Given the description of an element on the screen output the (x, y) to click on. 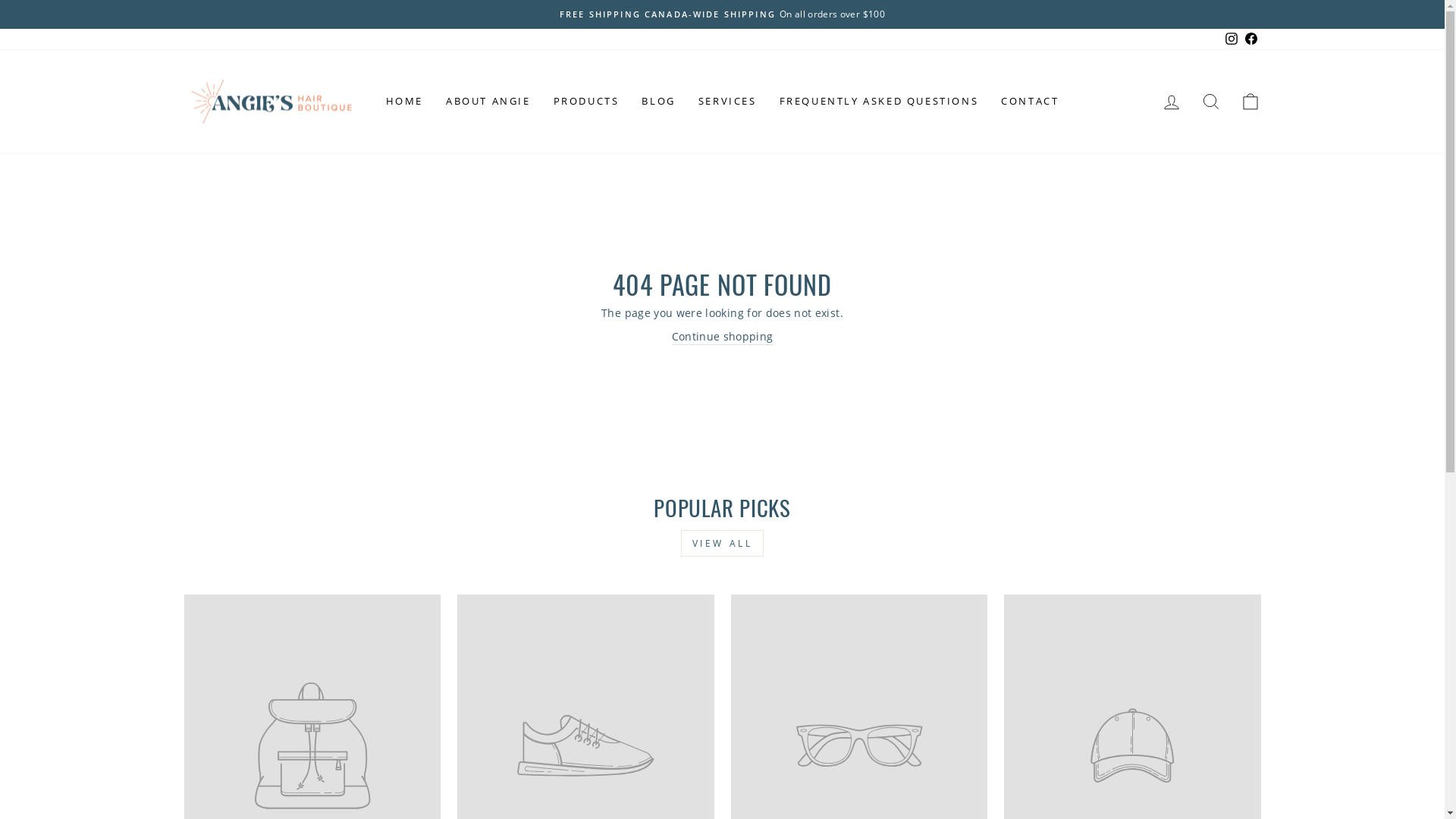
CART Element type: text (1249, 100)
Instagram Element type: text (1230, 39)
Continue shopping Element type: text (722, 336)
HOME Element type: text (404, 101)
SEARCH Element type: text (1210, 100)
ABOUT ANGIE Element type: text (488, 101)
BLOG Element type: text (658, 101)
FREQUENTLY ASKED QUESTIONS Element type: text (879, 101)
Facebook Element type: text (1250, 39)
CONTACT Element type: text (1029, 101)
VIEW ALL Element type: text (722, 543)
SERVICES Element type: text (727, 101)
PRODUCTS Element type: text (586, 101)
LOG IN Element type: text (1170, 100)
